Given the description of an element on the screen output the (x, y) to click on. 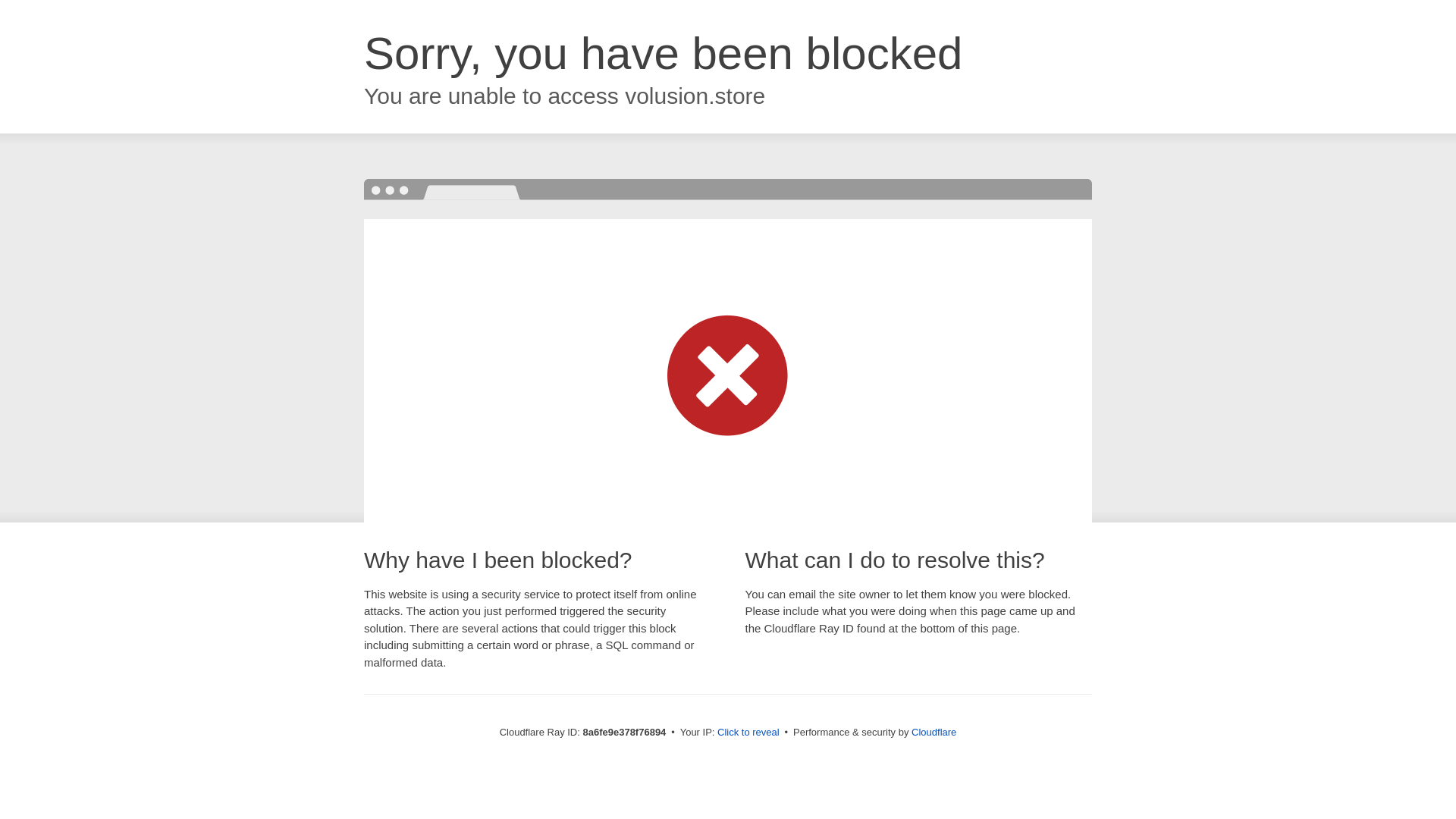
Click to reveal (747, 732)
Cloudflare (933, 731)
